Given the description of an element on the screen output the (x, y) to click on. 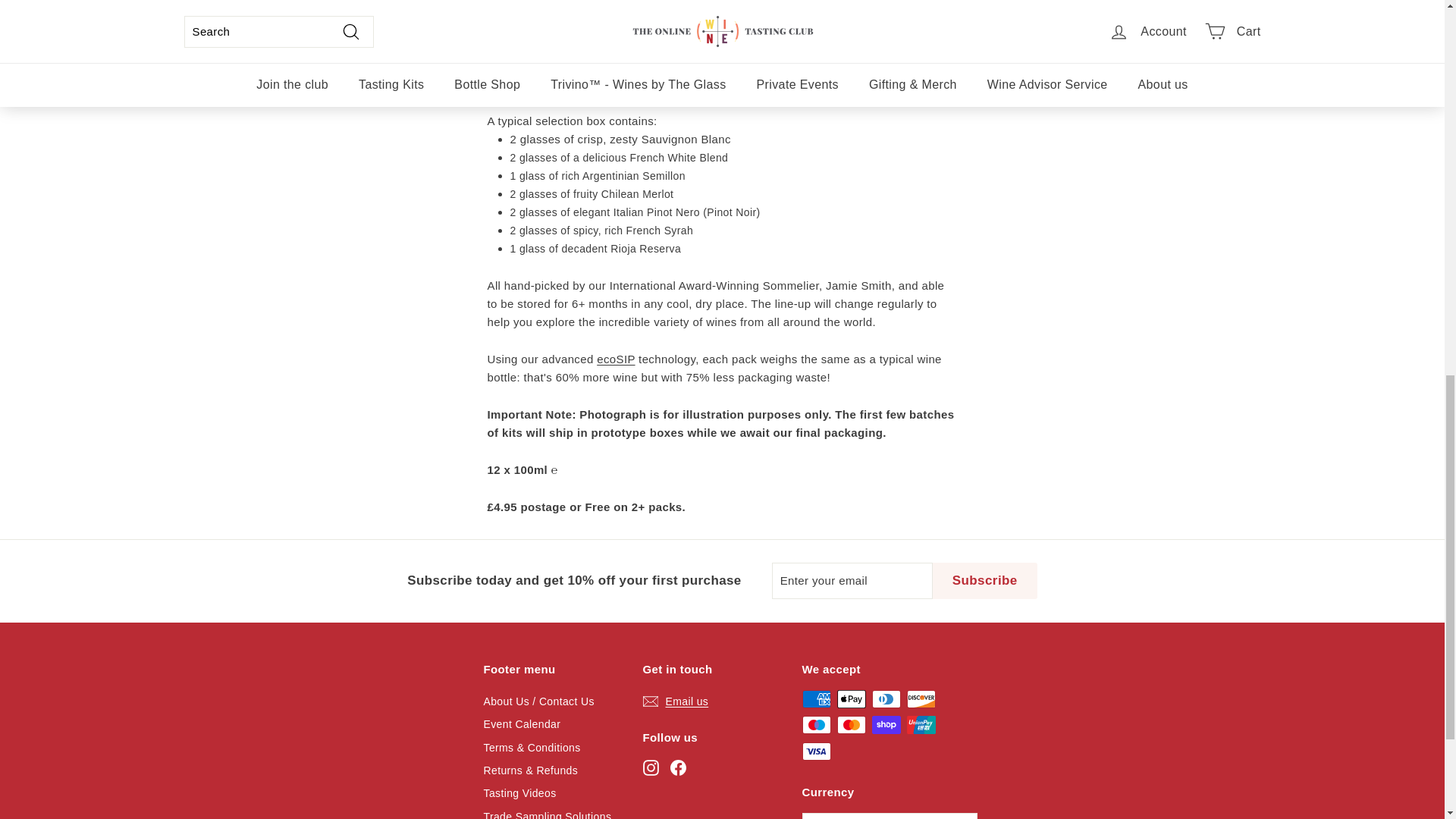
Diners Club (886, 699)
The Online Wine Tasting Club on Instagram (651, 766)
Discover (921, 699)
American Express (816, 699)
The Online Wine Tasting Club on Facebook (677, 766)
Maestro (816, 724)
Apple Pay (851, 699)
